Given the description of an element on the screen output the (x, y) to click on. 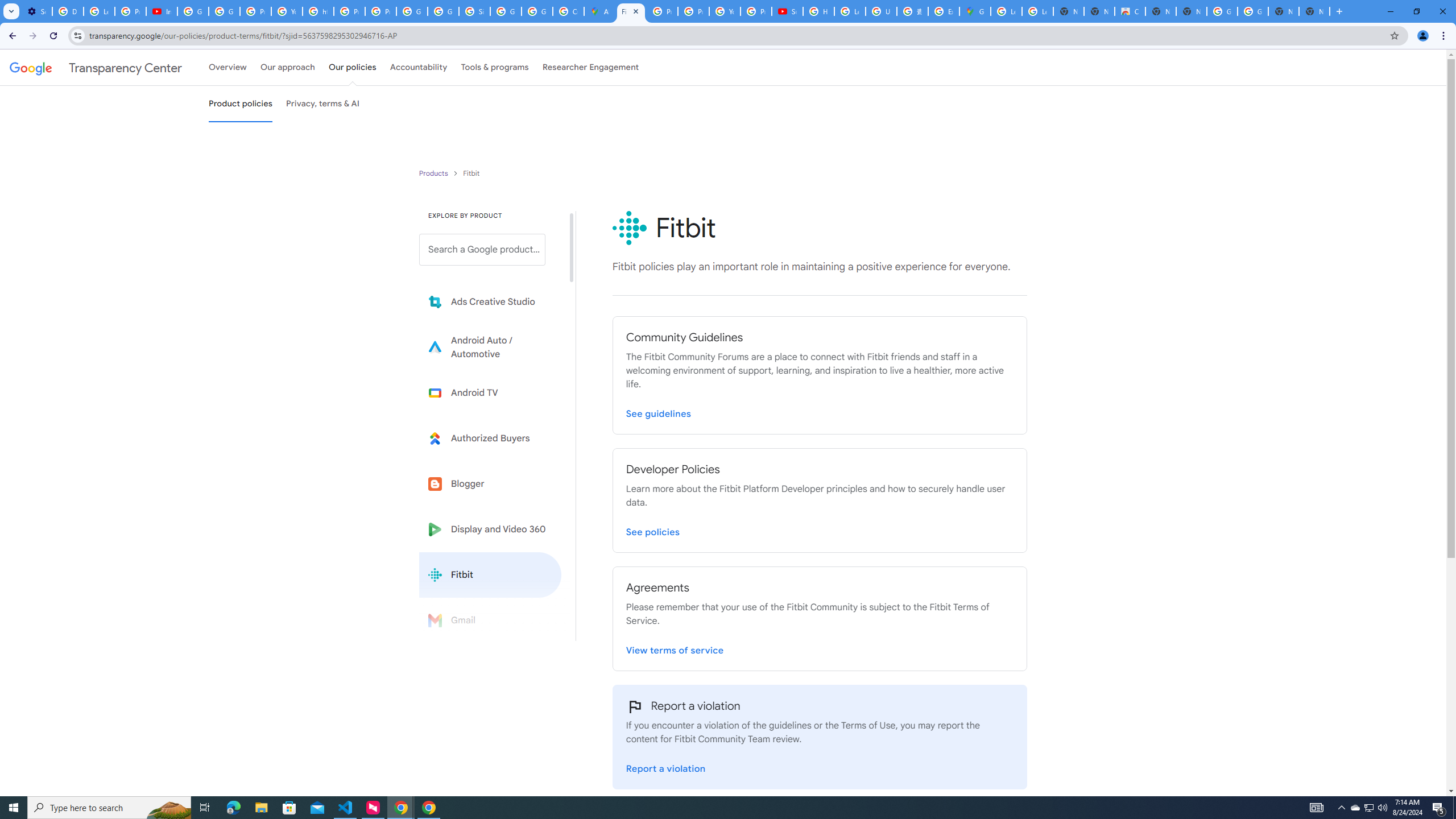
Privacy Help Center - Policies Help (349, 11)
Read Fitbit Terms of Service page (674, 647)
Learn more about Authorized Buyers (490, 438)
Gmail (490, 619)
Learn more about Android TV (490, 393)
View Fitbit Developer Policies page (652, 529)
Visit Fitbit Community Guidelines page (658, 411)
